Given the description of an element on the screen output the (x, y) to click on. 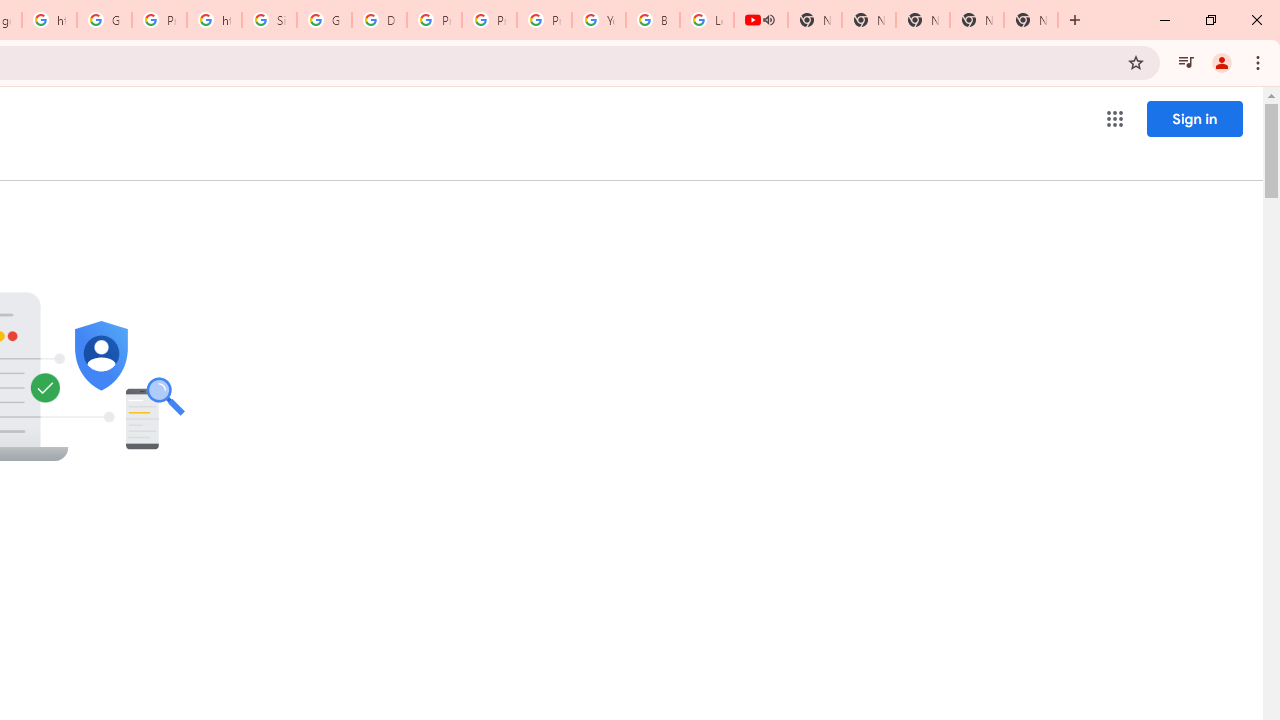
https://scholar.google.com/ (213, 20)
New Tab (1030, 20)
https://scholar.google.com/ (48, 20)
